Given the description of an element on the screen output the (x, y) to click on. 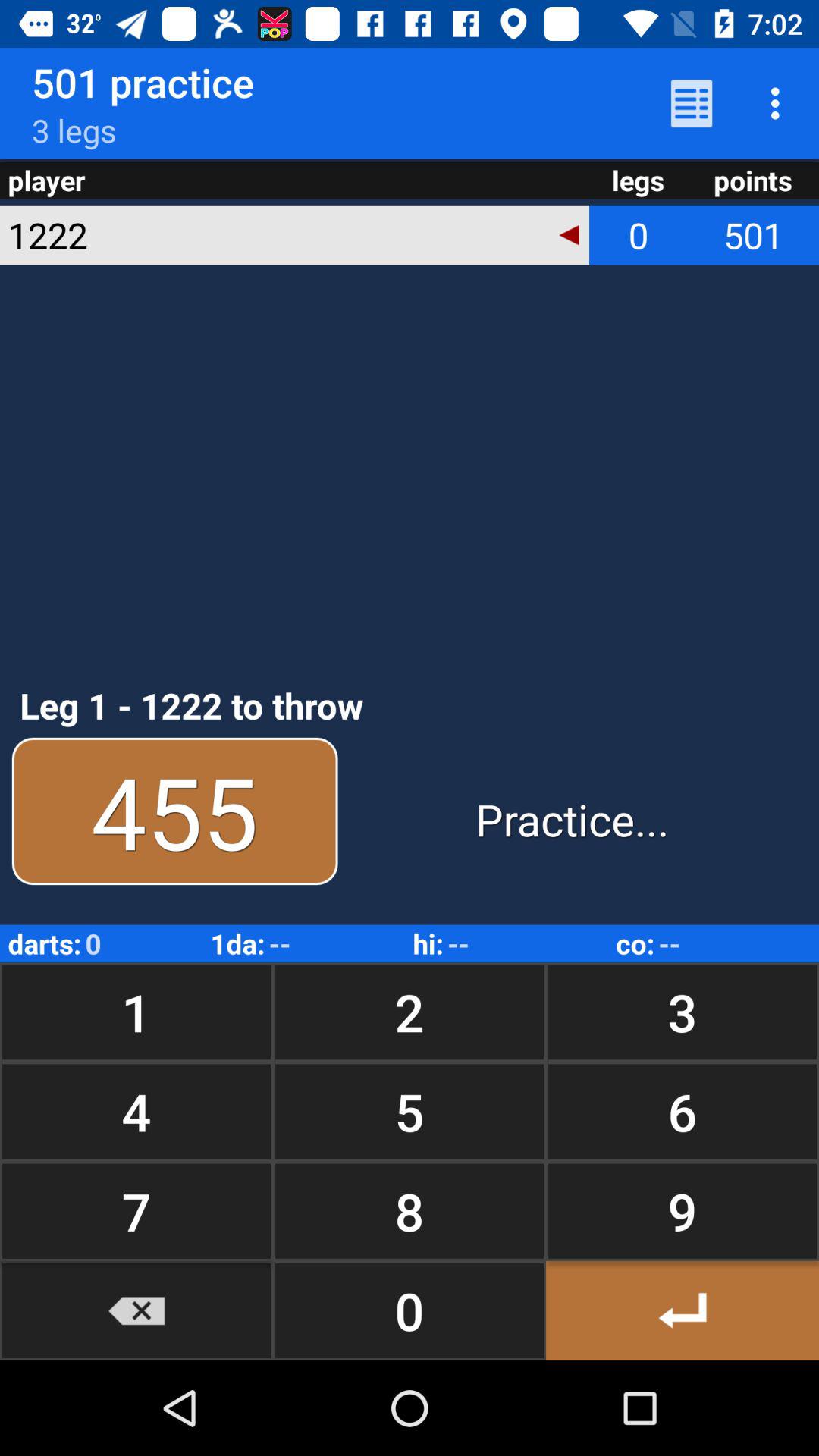
turn off button below 8 (682, 1310)
